Given the description of an element on the screen output the (x, y) to click on. 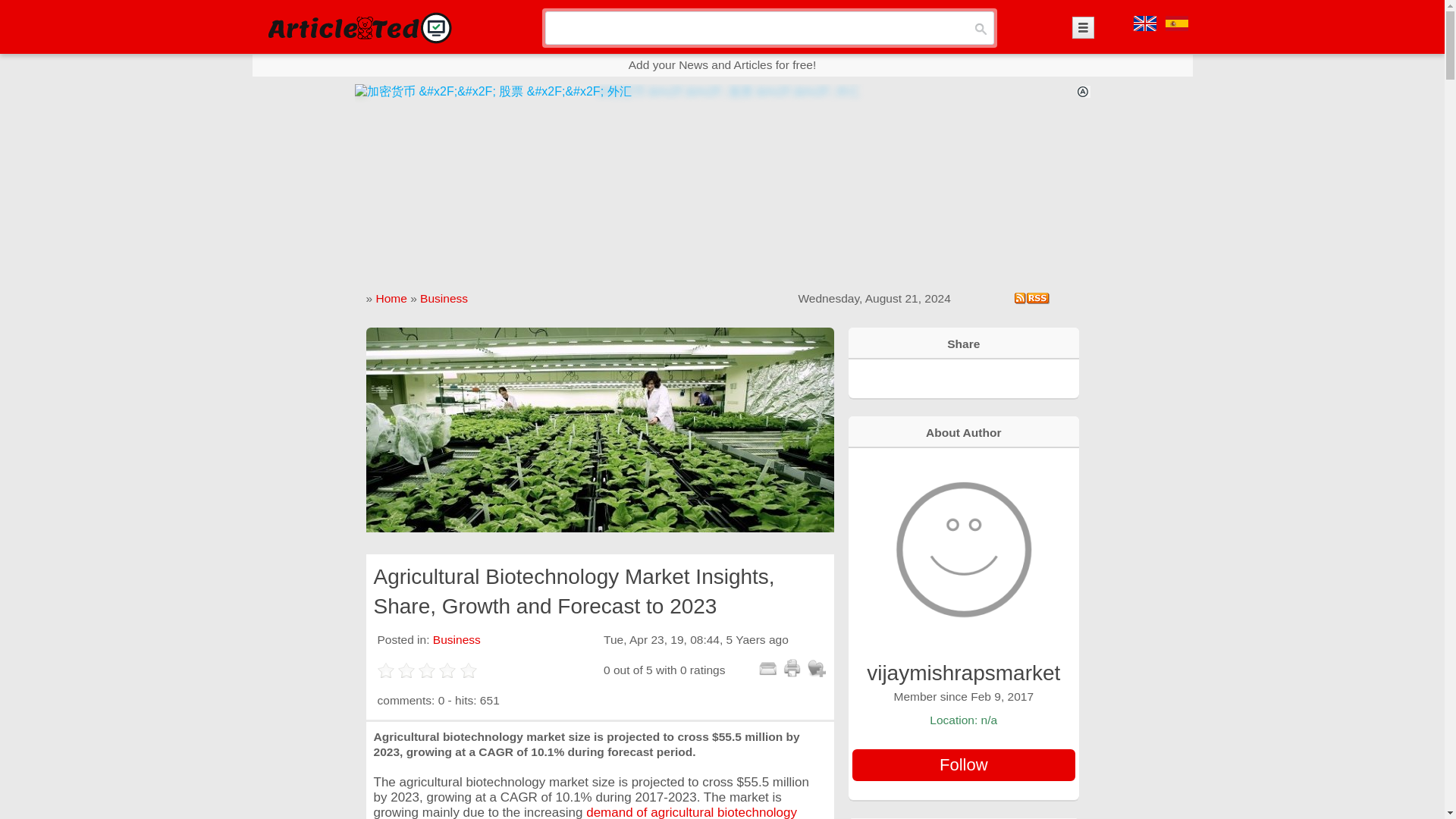
demand of agricultural biotechnology (691, 812)
Follow (963, 765)
ArticleTed -  News and Articles (357, 27)
Home (390, 297)
Business (443, 297)
Business (456, 639)
